Given the description of an element on the screen output the (x, y) to click on. 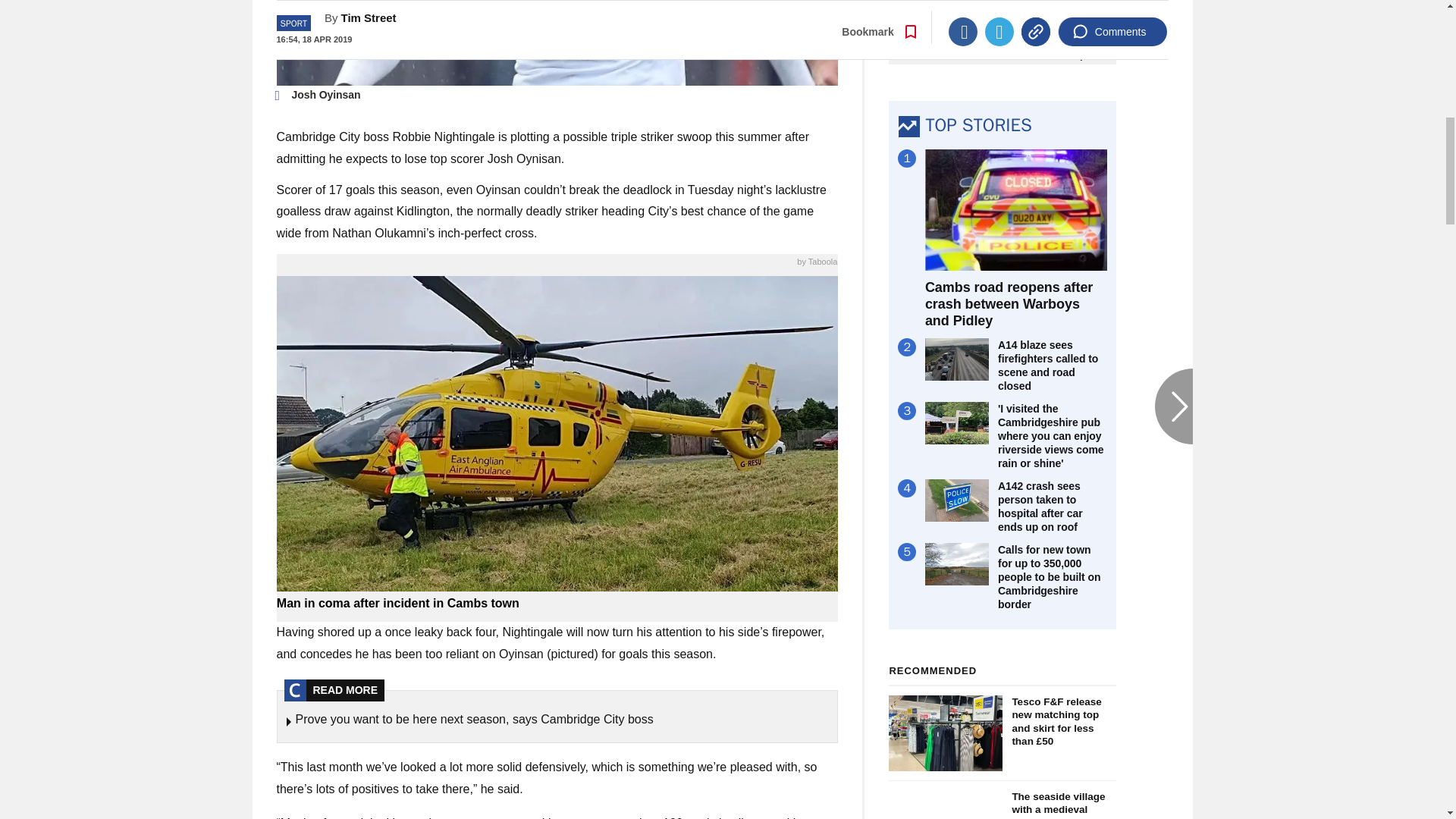
Man in coma after incident in Cambs town (557, 603)
